Given the description of an element on the screen output the (x, y) to click on. 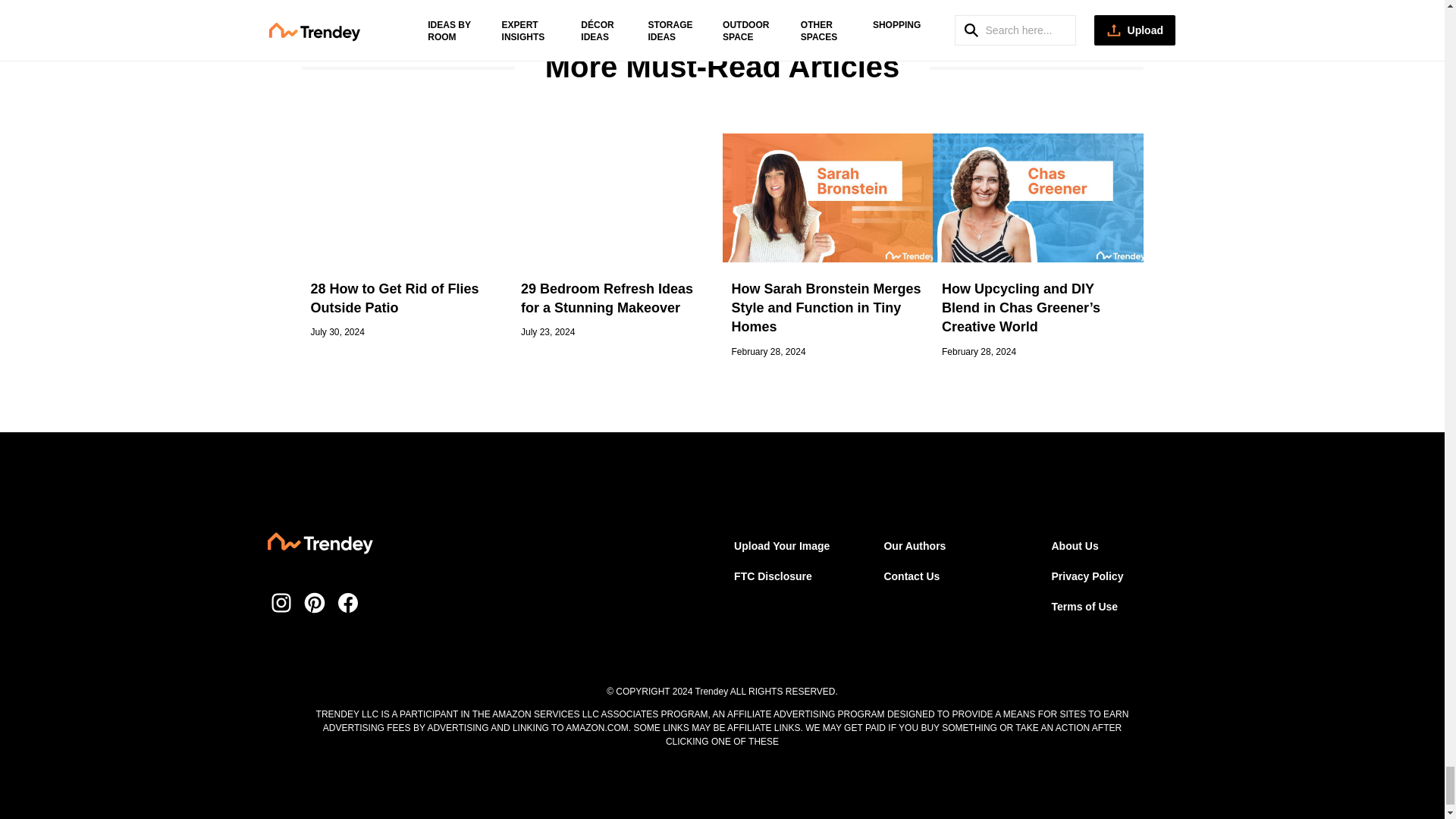
Trendey (319, 545)
